Given the description of an element on the screen output the (x, y) to click on. 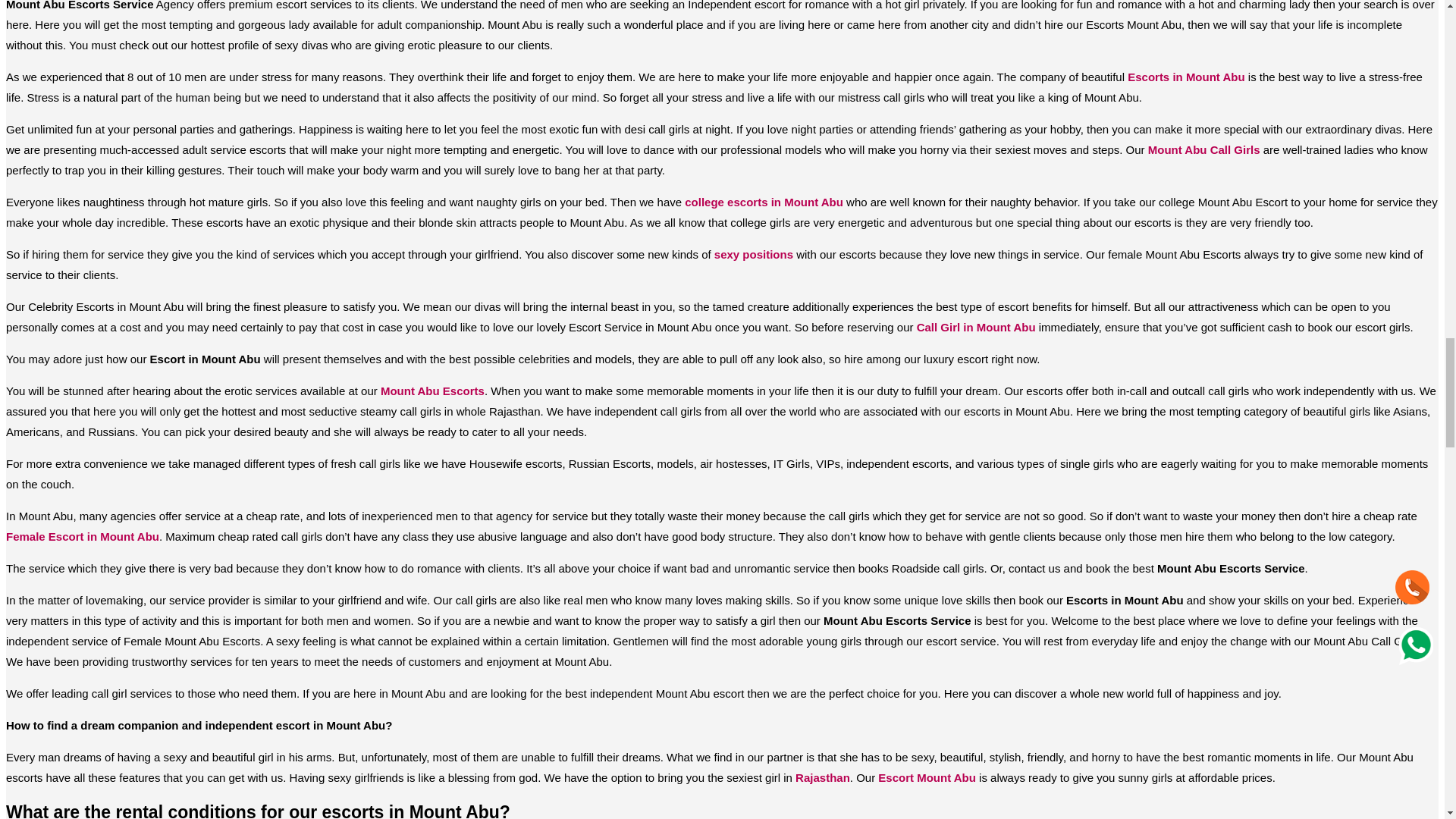
Escorts in Mount Abu (1185, 76)
Mount Abu Call Girls (1204, 149)
Escort Mount Abu (926, 777)
college escorts in Mount Abu (763, 201)
Call Girl in Mount Abu (976, 327)
Female Escort in Mount Abu (81, 535)
Mount Abu Escorts (432, 390)
sexy positions (753, 254)
Rajasthan (822, 777)
